Given the description of an element on the screen output the (x, y) to click on. 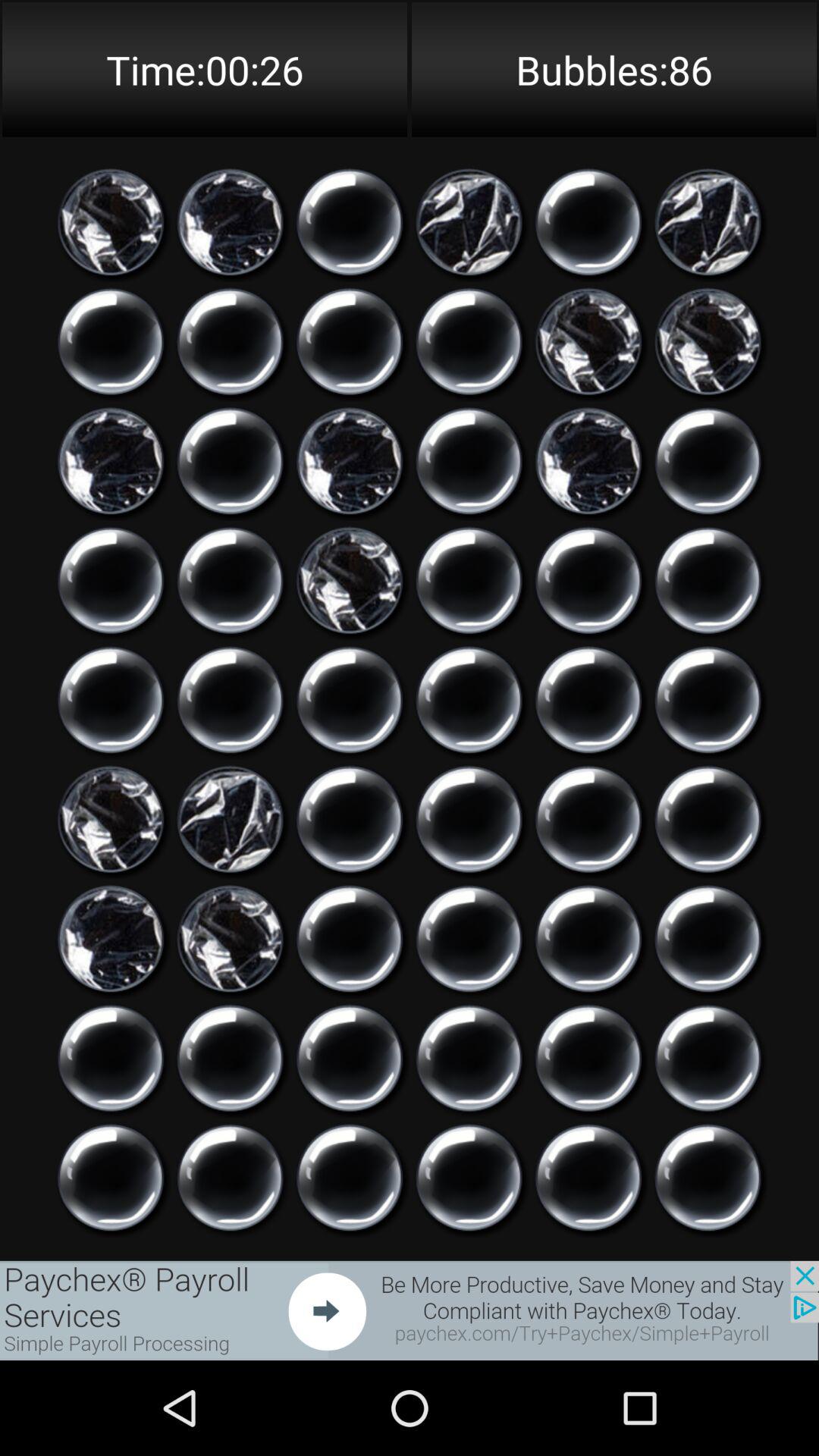
pop the given bubble (468, 460)
